Given the description of an element on the screen output the (x, y) to click on. 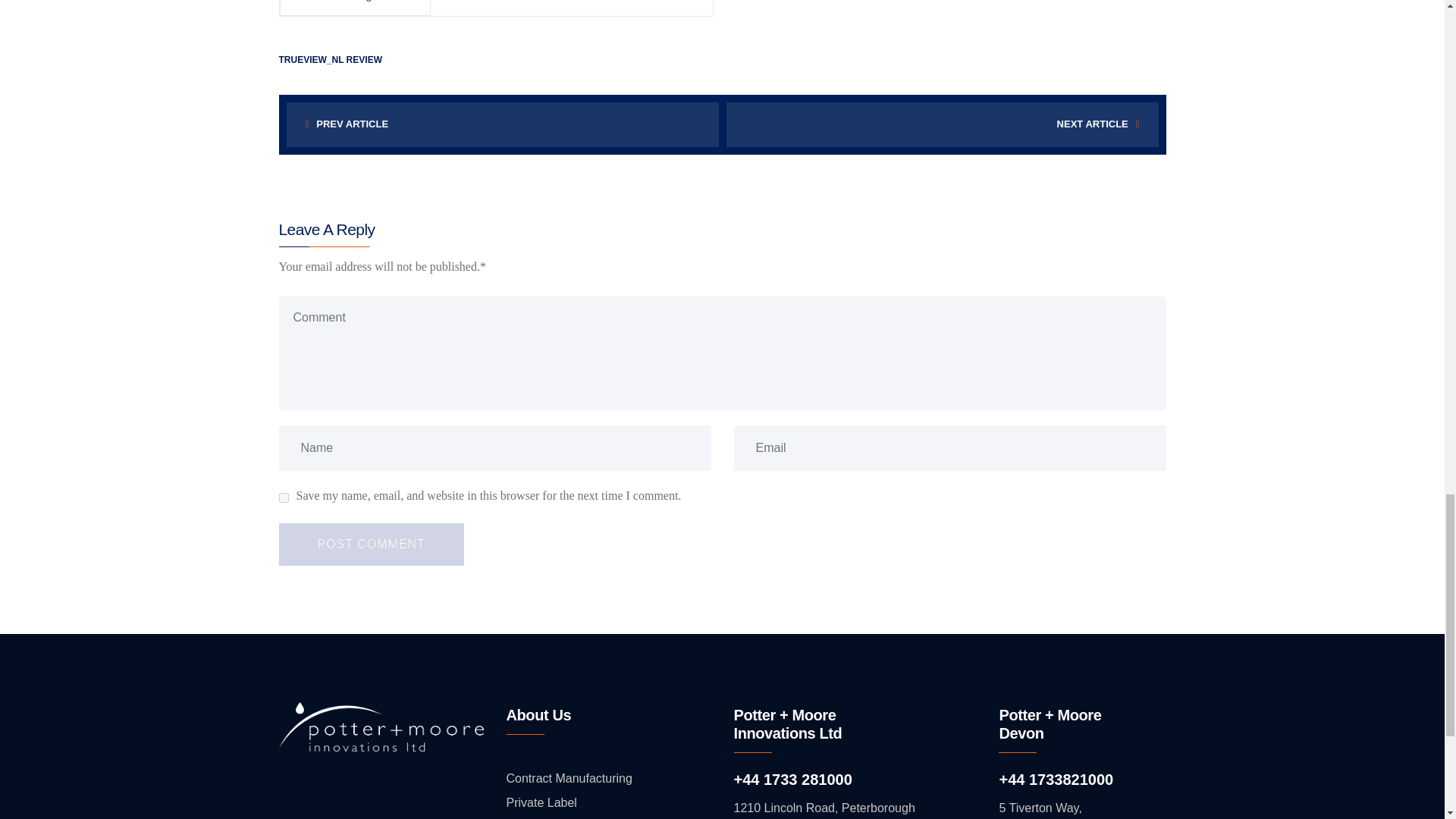
yes (283, 497)
NEXT ARTICLE (942, 124)
PREV ARTICLE (502, 124)
